Given the description of an element on the screen output the (x, y) to click on. 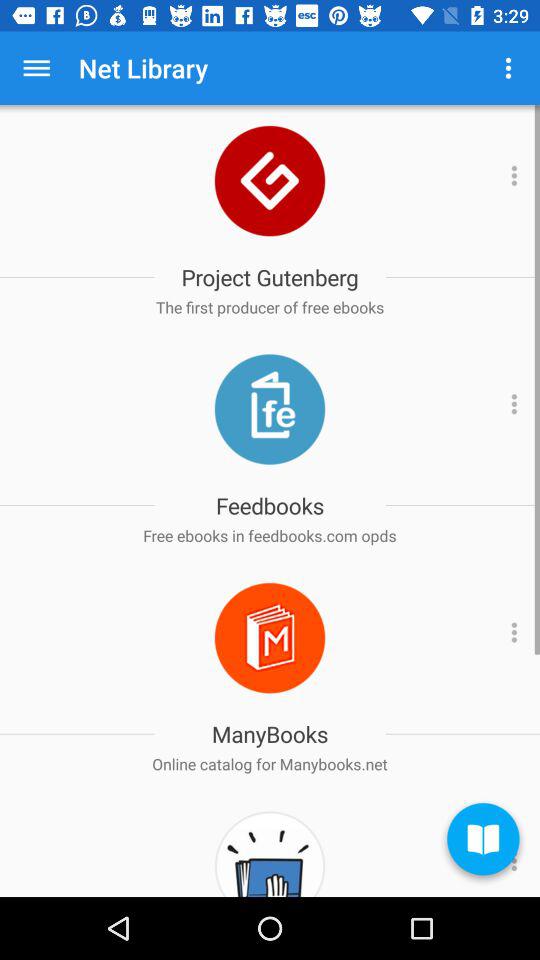
open the icon to the right of net library (508, 67)
